Given the description of an element on the screen output the (x, y) to click on. 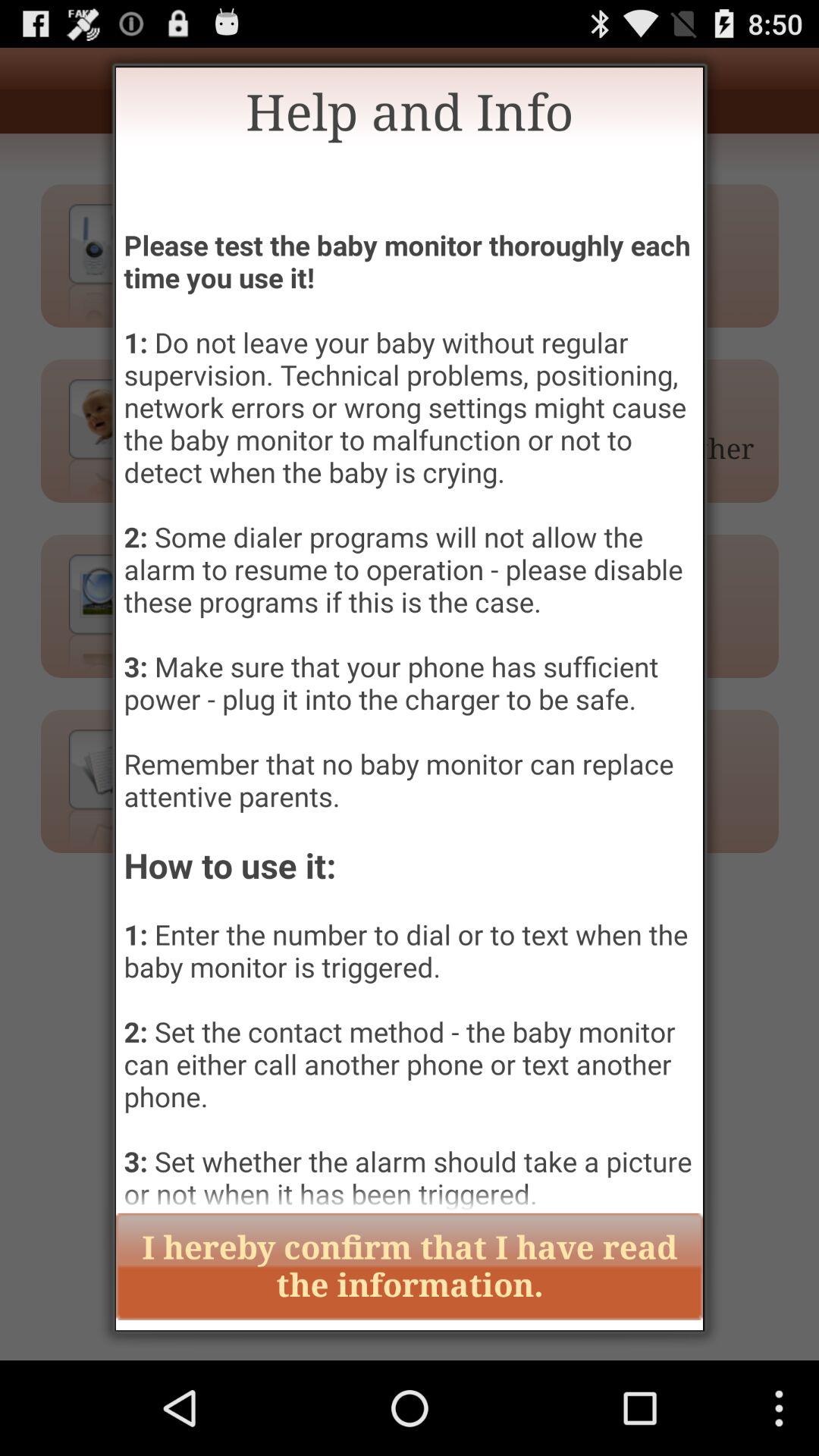
flip until the i hereby confirm (409, 1266)
